Given the description of an element on the screen output the (x, y) to click on. 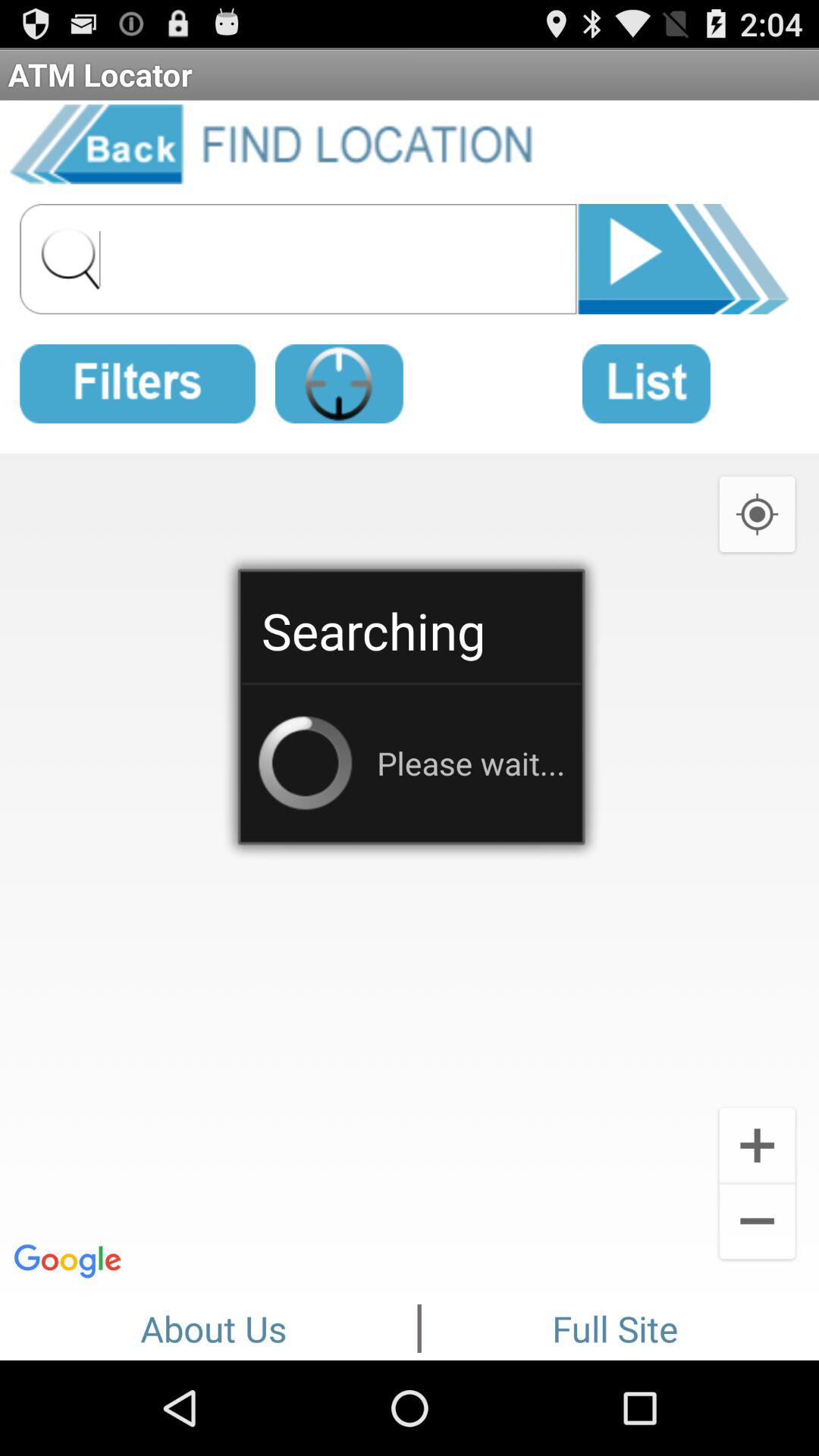
tap the icon at the top left corner (137, 380)
